Given the description of an element on the screen output the (x, y) to click on. 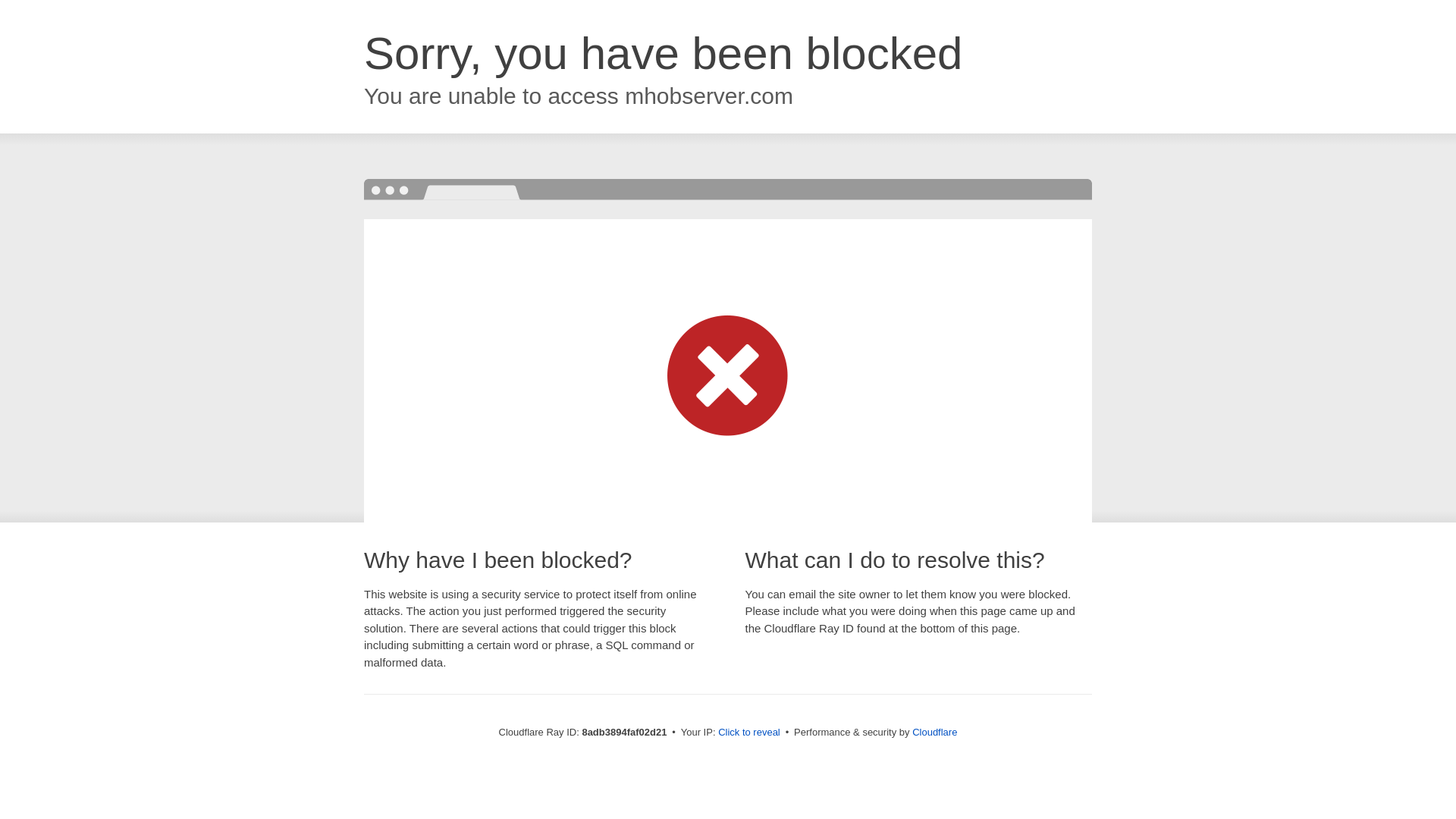
Click to reveal (748, 732)
Cloudflare (934, 731)
